Given the description of an element on the screen output the (x, y) to click on. 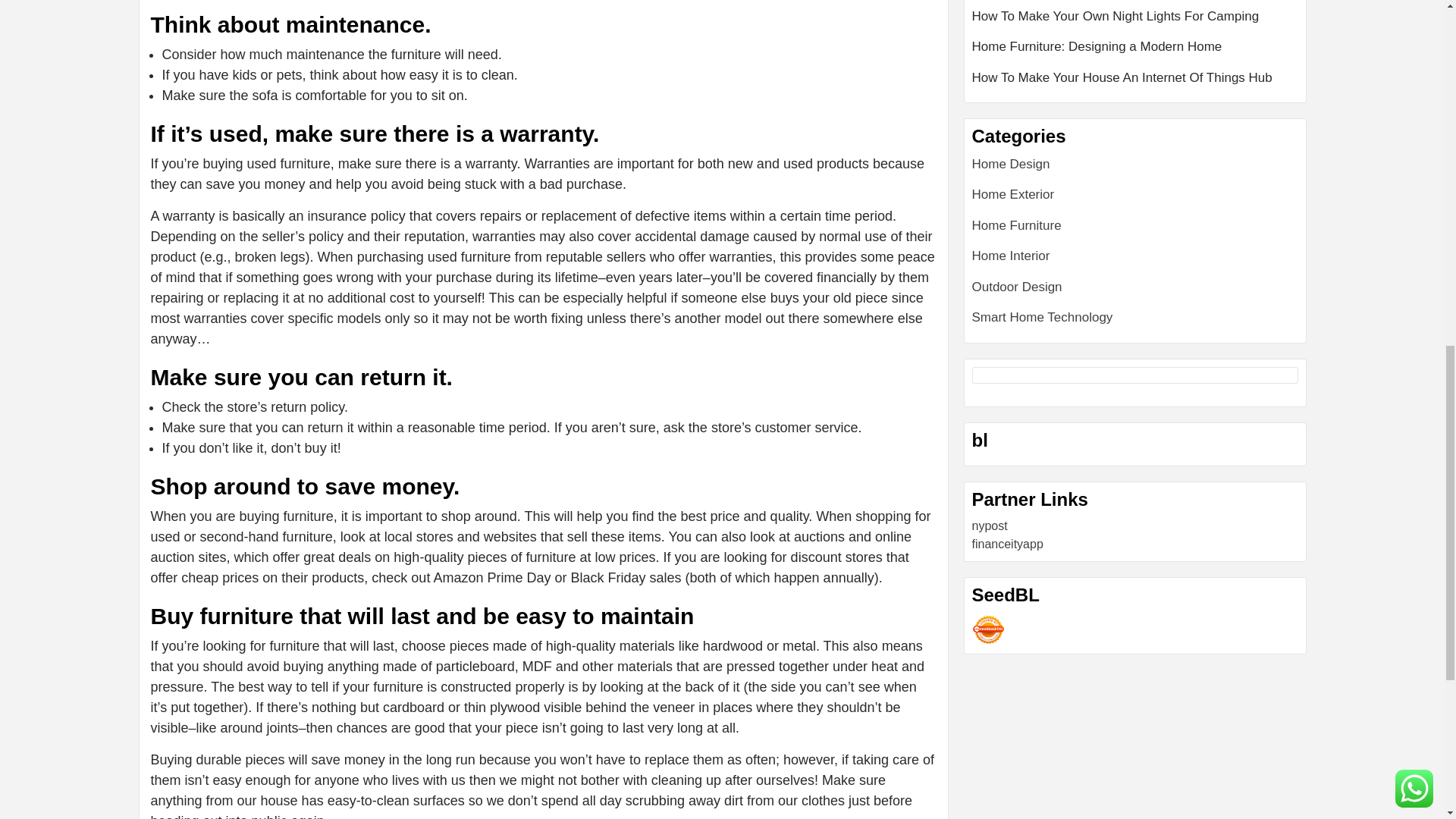
Home Furniture (1016, 225)
Home Design (1010, 164)
Home Exterior (1013, 194)
How To Make Your House An Internet Of Things Hub (1135, 77)
Home Furniture: Designing a Modern Home (1135, 51)
How To Make Your Own Night Lights For Camping (1135, 21)
The 8 Best Smart Home Devices (1135, 3)
